Given the description of an element on the screen output the (x, y) to click on. 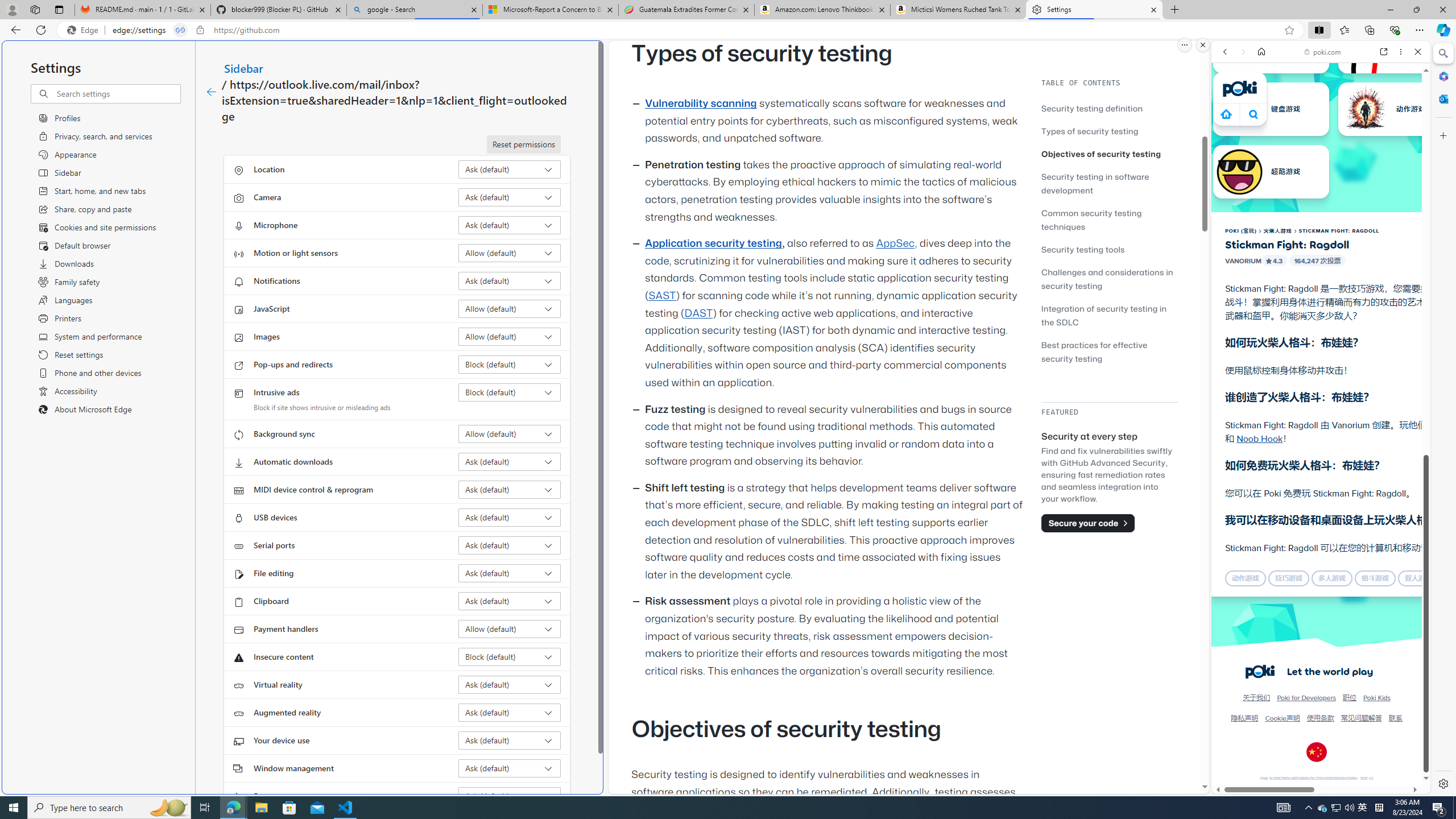
Window management Ask (default) (509, 768)
Challenges and considerations in security testing (1107, 278)
Class: B_5ykBA46kDOxiz_R9wm (1253, 113)
AppSec (895, 243)
SEARCH TOOLS (1350, 130)
Two Player Games (1320, 323)
Io Games (1320, 350)
Types of security testing (1089, 130)
